Given the description of an element on the screen output the (x, y) to click on. 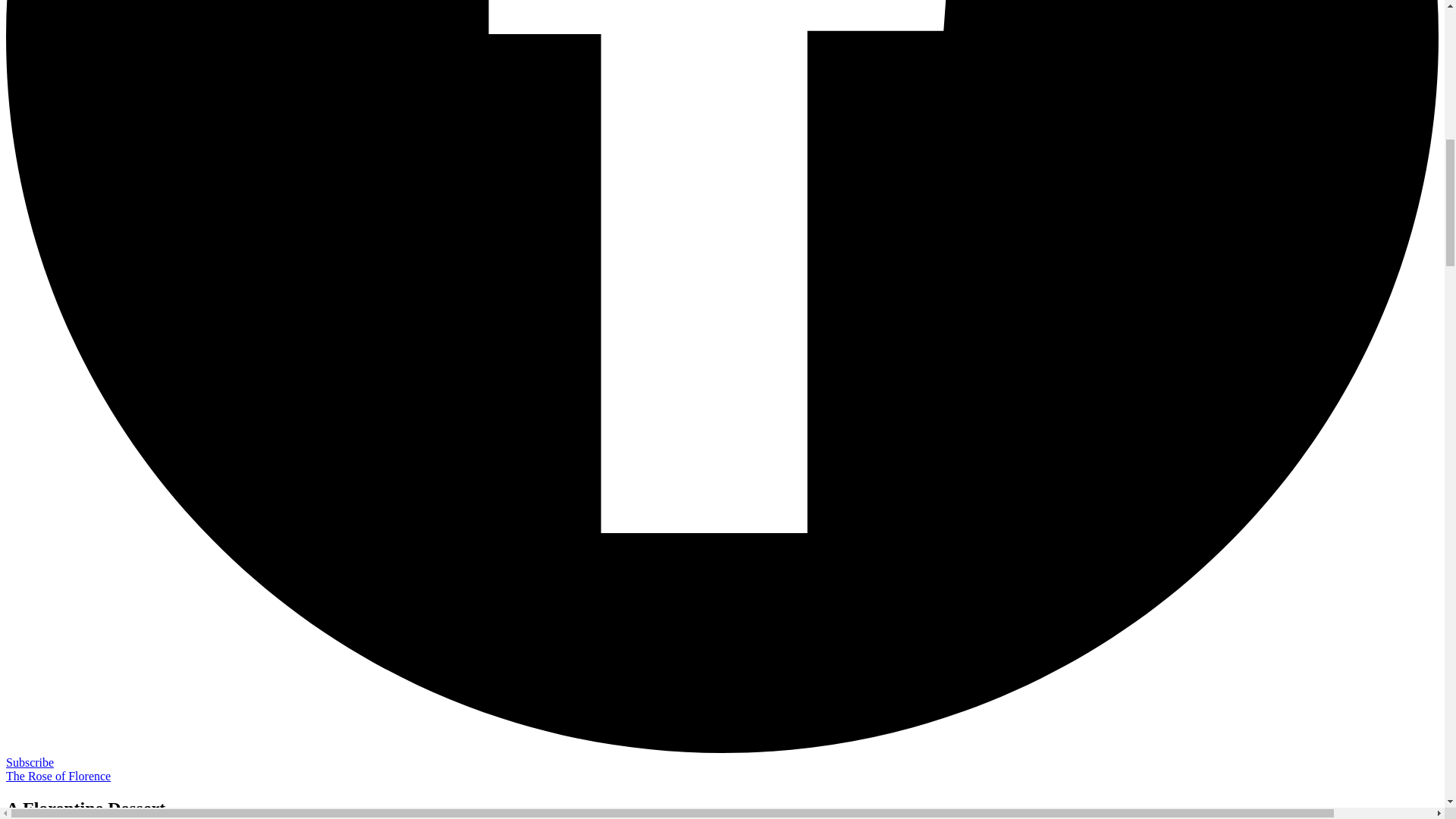
The Rose of Florence (57, 775)
Subscribe (29, 762)
